Given the description of an element on the screen output the (x, y) to click on. 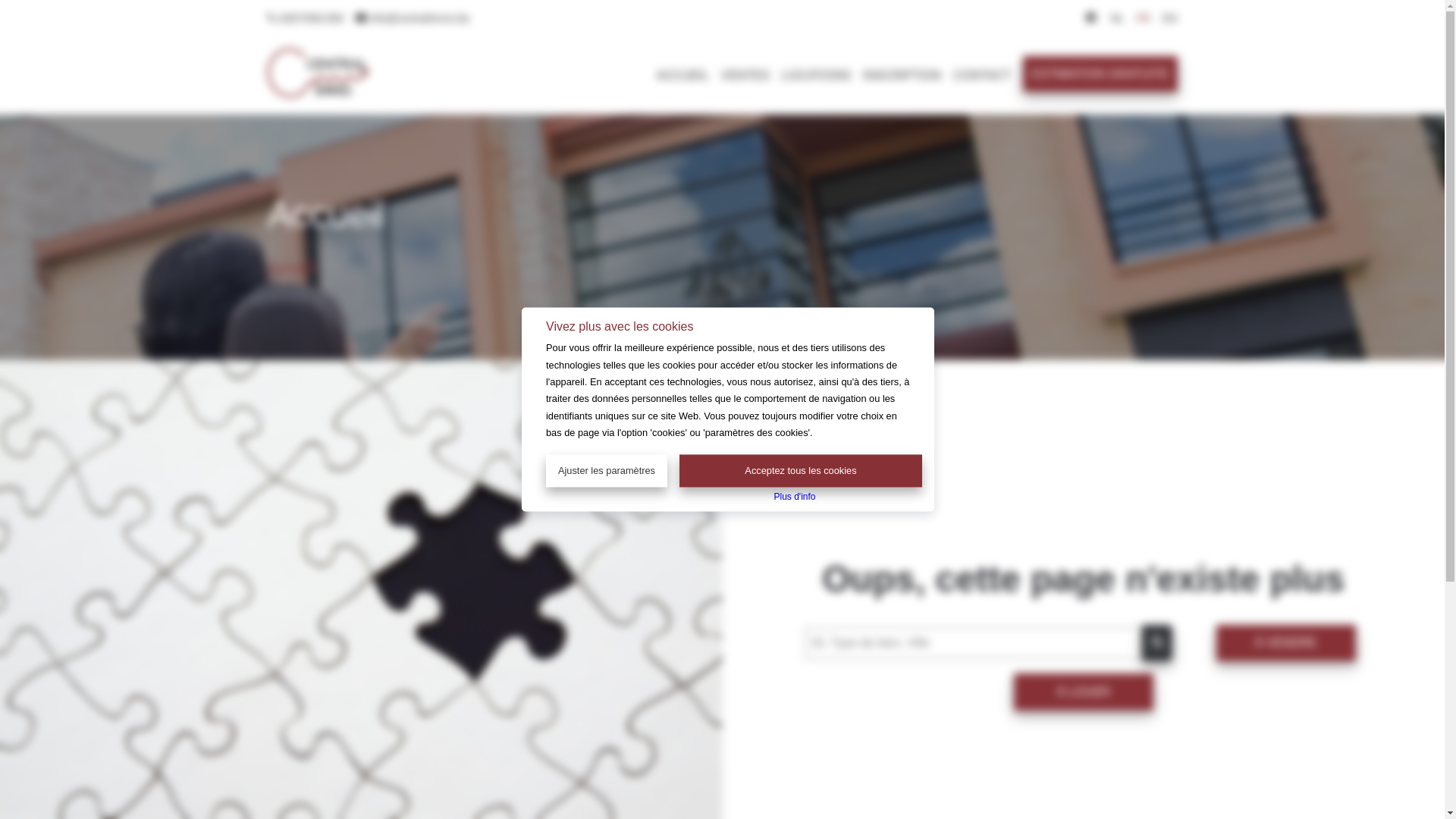
 info@centralimmo.be Element type: text (412, 18)
 0487/569.569 Element type: text (304, 18)
  Element type: text (1092, 18)
ACCUEIL Element type: text (675, 74)
INSCRIPTION Element type: text (895, 74)
VENTES Element type: text (739, 74)
FR Element type: text (1142, 18)
ESTIMATION GRATUITE Element type: text (1093, 74)
EN Element type: text (1169, 18)
LOCATIONS Element type: text (809, 74)
Go to the homepage Element type: hover (316, 92)
ESTIMATION GRATUITE Element type: text (1099, 73)
Acceptez tous les cookies Element type: text (800, 470)
Plus d'info Element type: text (794, 495)
CONTACT Element type: text (975, 74)
NL Element type: text (1116, 18)
